Given the description of an element on the screen output the (x, y) to click on. 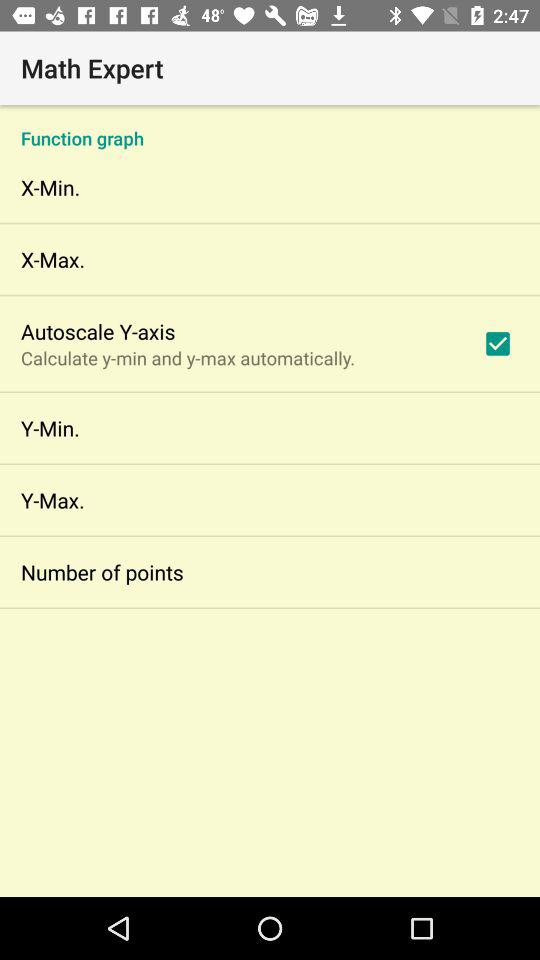
click icon below the math expert icon (270, 127)
